Given the description of an element on the screen output the (x, y) to click on. 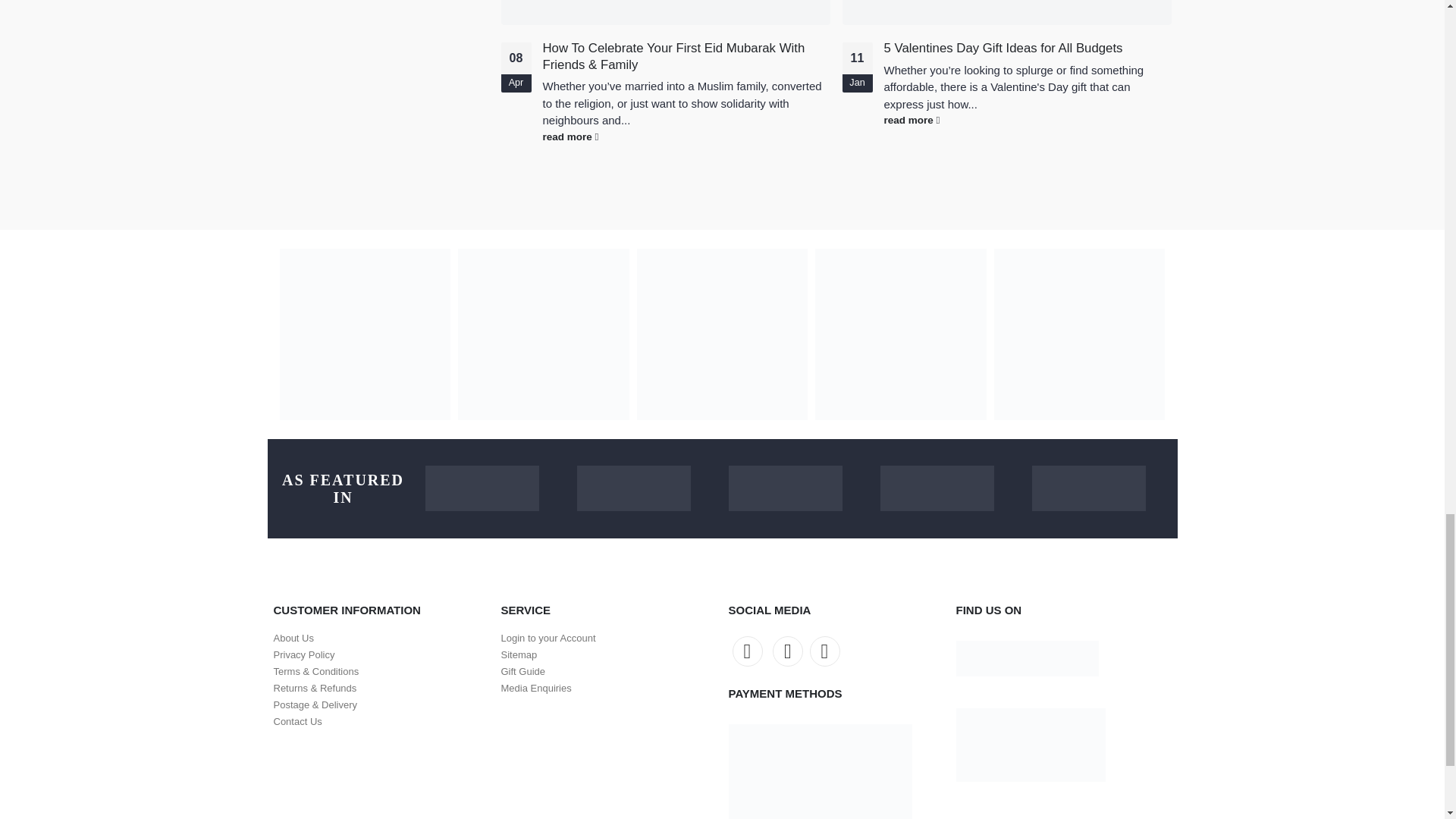
hello-magzine-white-web-2 (633, 488)
martha-stewart-logo (784, 488)
the-sun-web-white (481, 488)
